Given the description of an element on the screen output the (x, y) to click on. 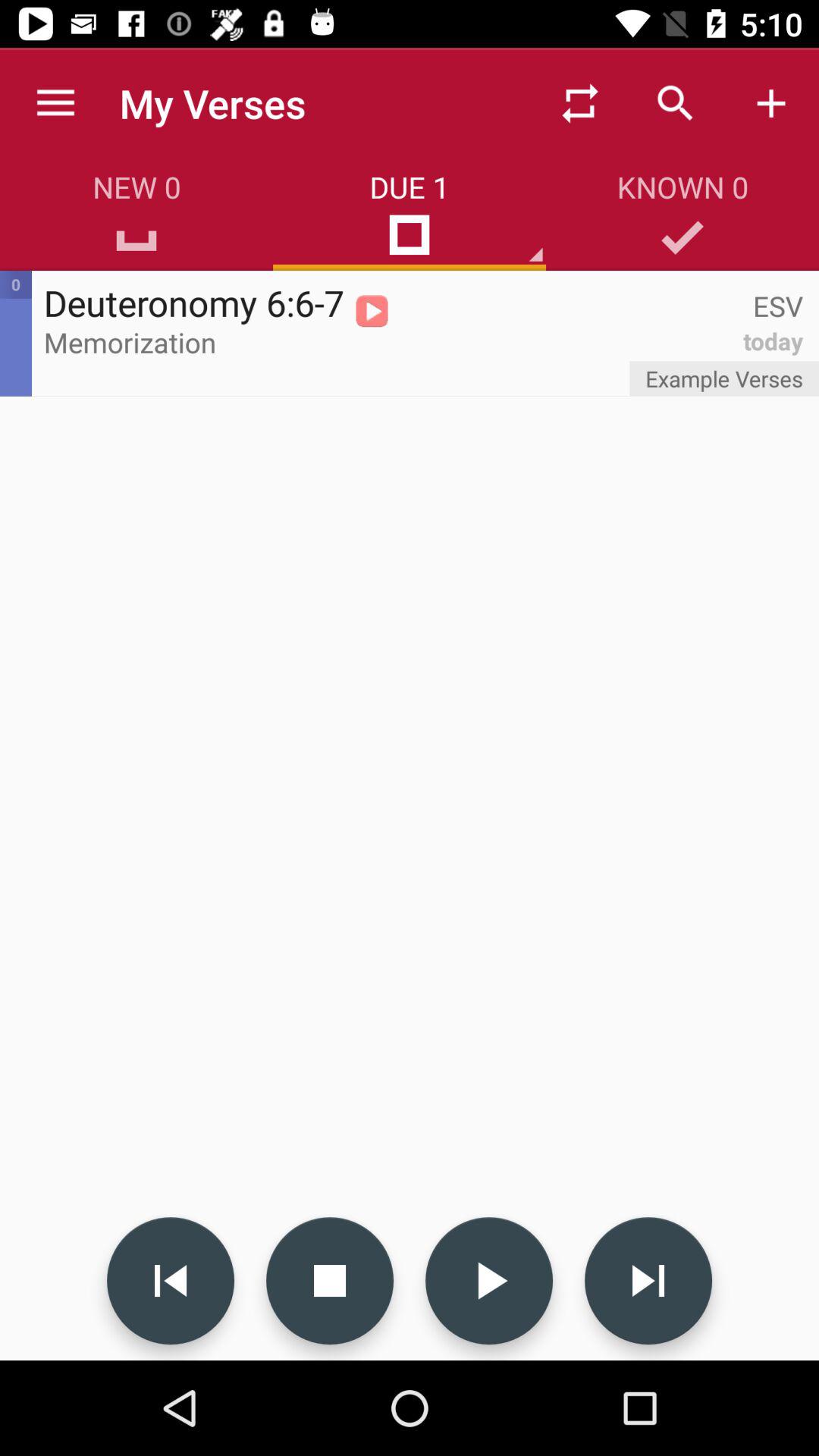
choose item next to my verses icon (579, 103)
